Given the description of an element on the screen output the (x, y) to click on. 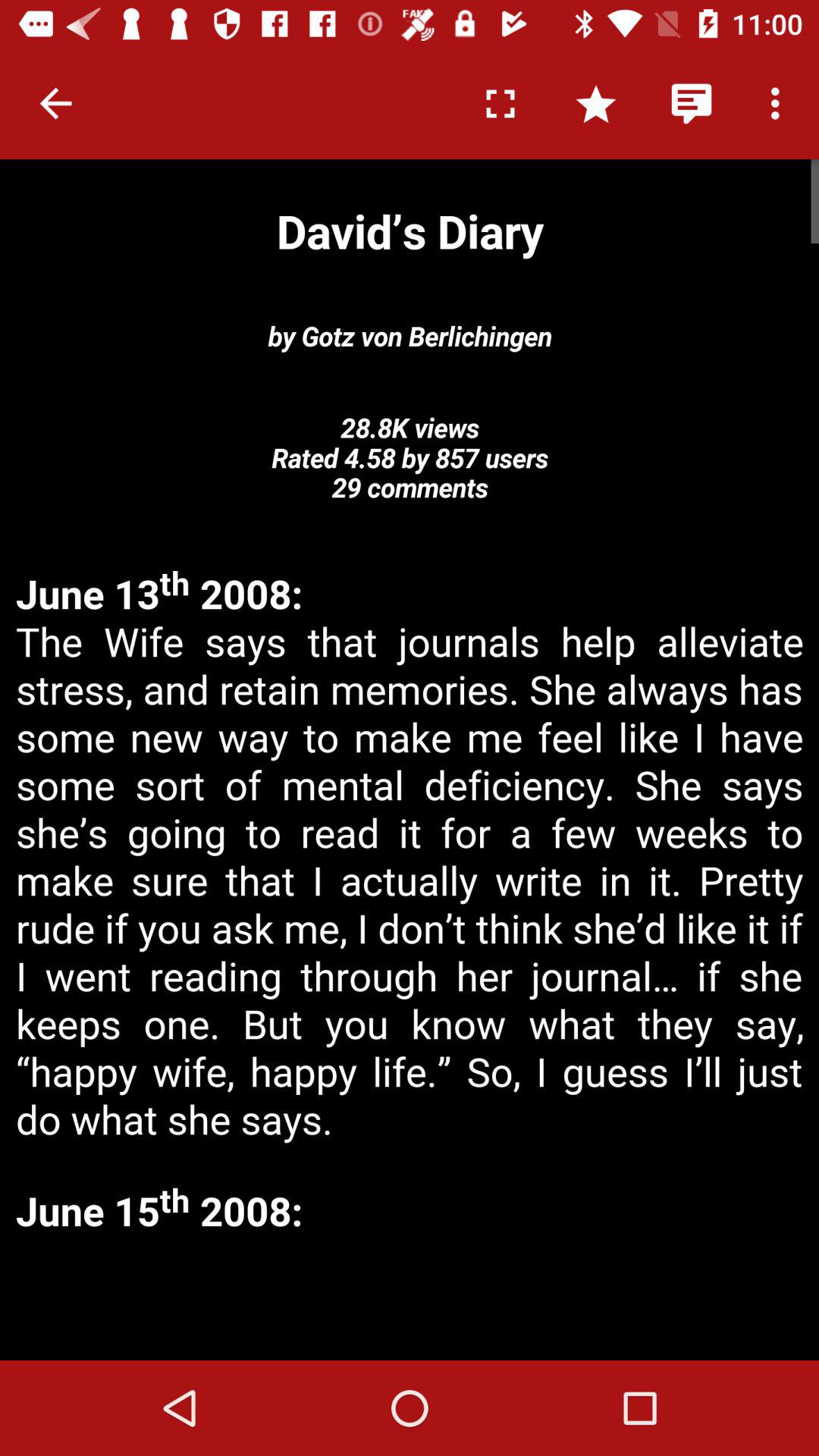
go to advertisements website (409, 1300)
